Given the description of an element on the screen output the (x, y) to click on. 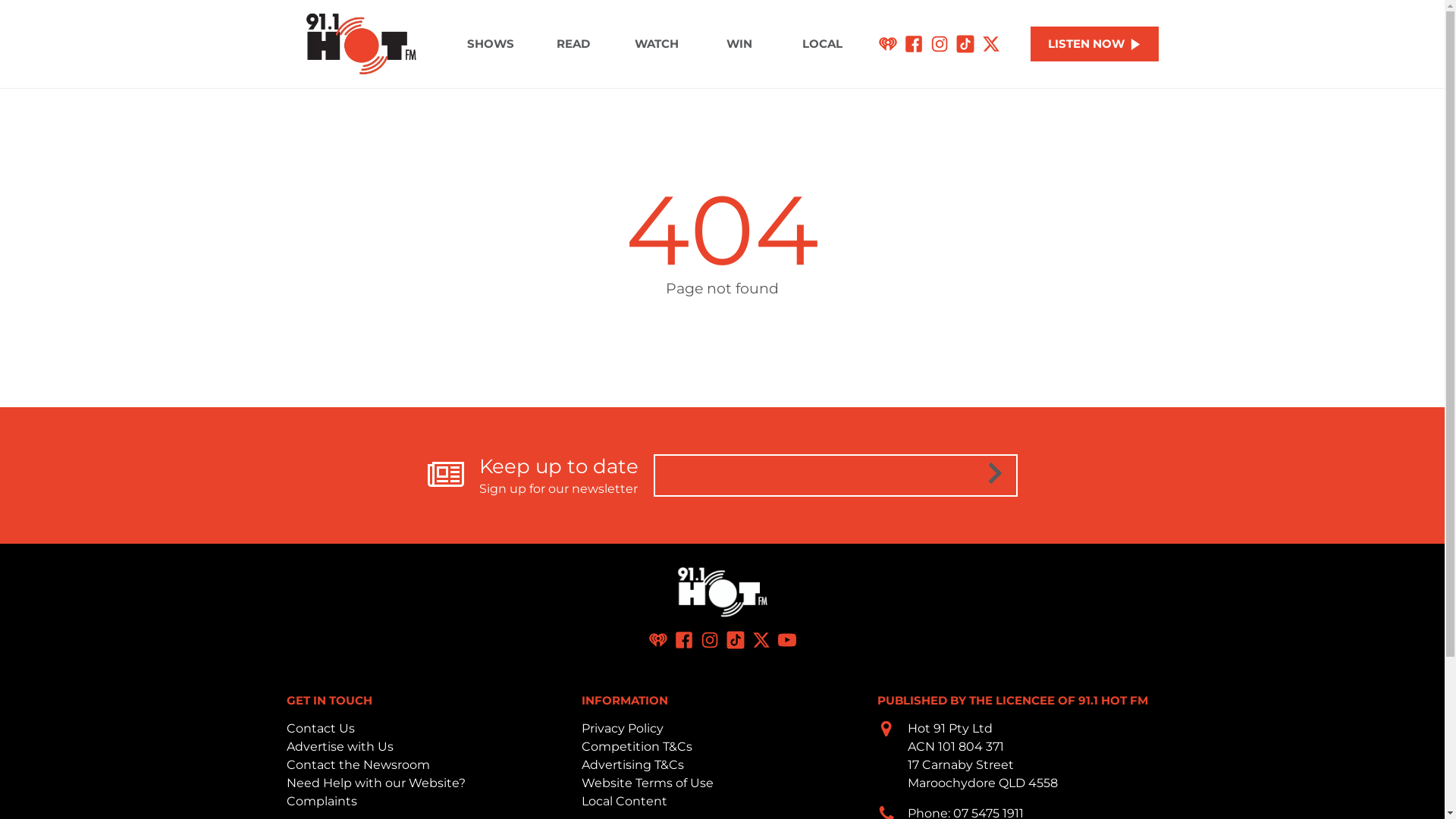
Twitter/X Element type: text (761, 639)
LOCAL Element type: text (822, 43)
Local Content Element type: text (624, 800)
iHeart Element type: text (658, 639)
Advertising T&Cs Element type: text (632, 764)
Advertise with Us Element type: text (339, 746)
Contact Us Element type: text (320, 728)
WATCH Element type: text (656, 43)
Instagram Element type: text (709, 639)
Tiktok Element type: text (735, 639)
Competition T&Cs Element type: text (636, 746)
WIN Element type: text (738, 43)
Need Help with our Website? Element type: text (375, 782)
Facebook Element type: text (913, 43)
SHOWS Element type: text (489, 43)
Complaints Element type: text (321, 800)
Twitter/X Element type: text (991, 43)
READ Element type: text (573, 43)
Tiktok Element type: text (965, 43)
Website Terms of Use Element type: text (647, 782)
LISTEN NOW Element type: text (1094, 44)
YouTube Element type: text (787, 639)
Instagram Element type: text (939, 43)
Contact the Newsroom Element type: text (357, 764)
Facebook Element type: text (683, 639)
Privacy Policy Element type: text (622, 728)
iHeart Element type: text (887, 43)
